Given the description of an element on the screen output the (x, y) to click on. 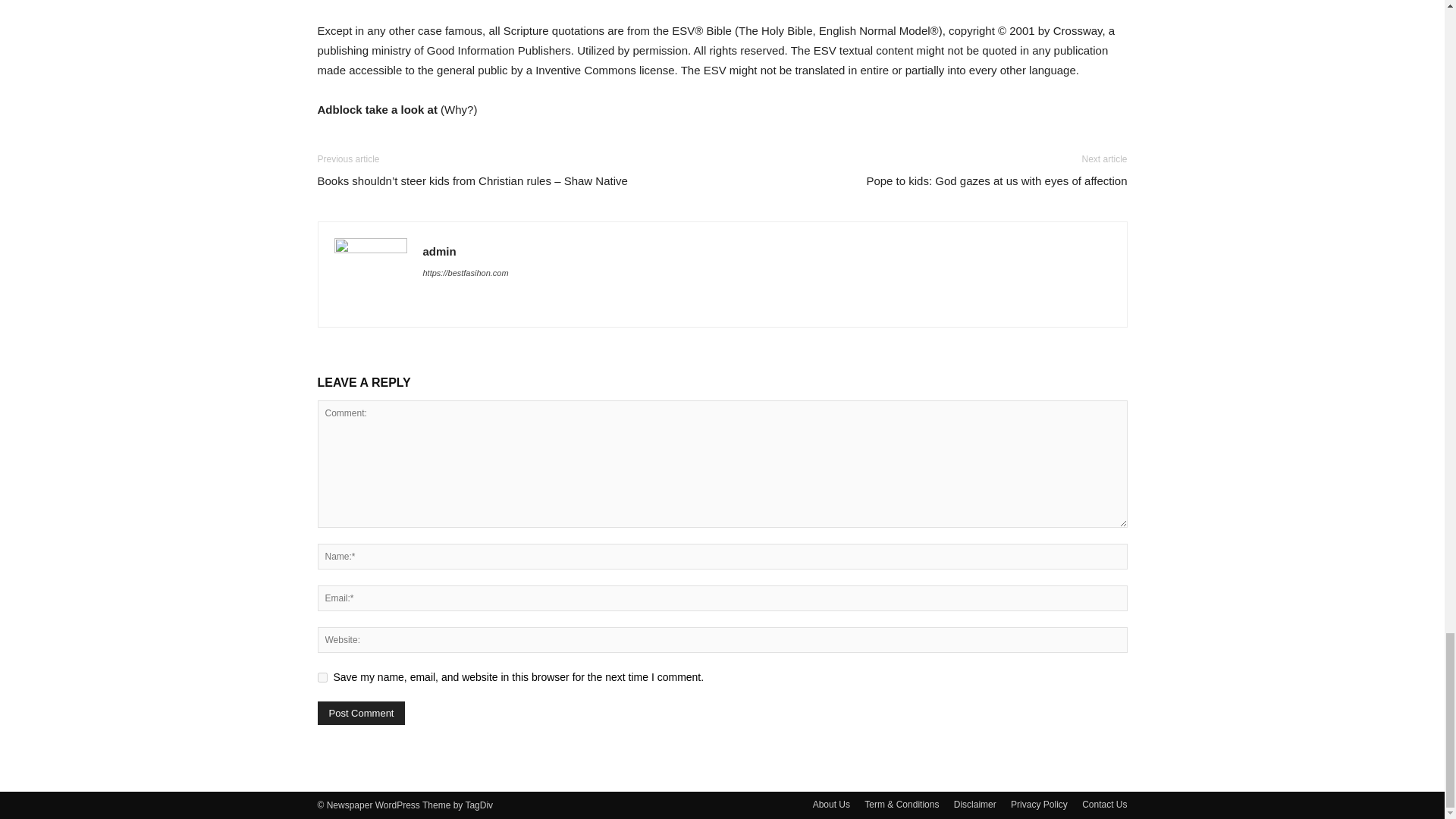
Pope to kids: God gazes at us with eyes of affection (996, 180)
admin (440, 250)
yes (321, 677)
Post Comment (360, 712)
